Given the description of an element on the screen output the (x, y) to click on. 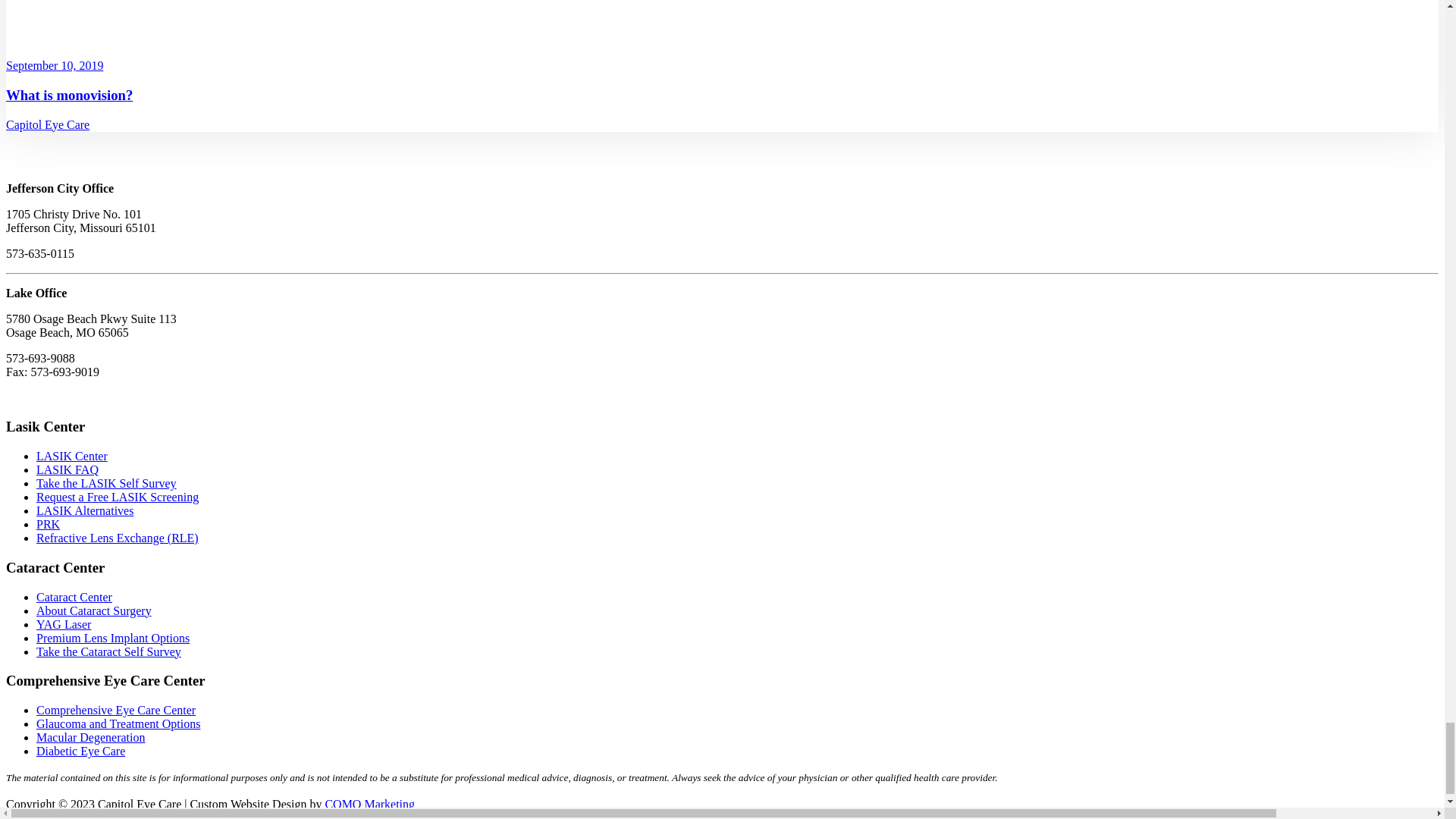
Senior reading with presbyopia book (730, 28)
Posts by Capitol Eye Care (46, 124)
